Given the description of an element on the screen output the (x, y) to click on. 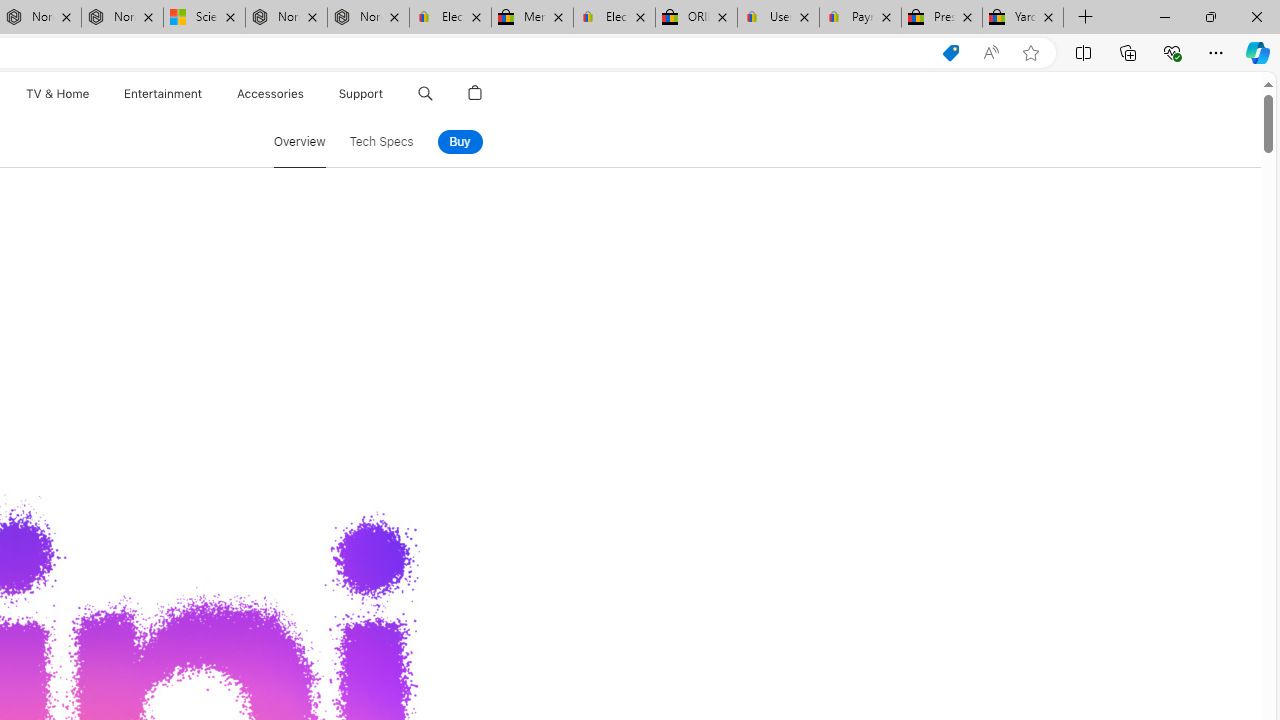
Class: globalnav-submenu-trigger-item (387, 93)
Entertainment (162, 93)
Overview (299, 141)
Entertainment menu (205, 93)
TV & Home (56, 93)
Overview (299, 141)
Tech Specs (381, 141)
TV and Home menu (92, 93)
User Privacy Notice | eBay (778, 17)
Press Room - eBay Inc. (941, 17)
Shopping in Microsoft Edge (950, 53)
